Given the description of an element on the screen output the (x, y) to click on. 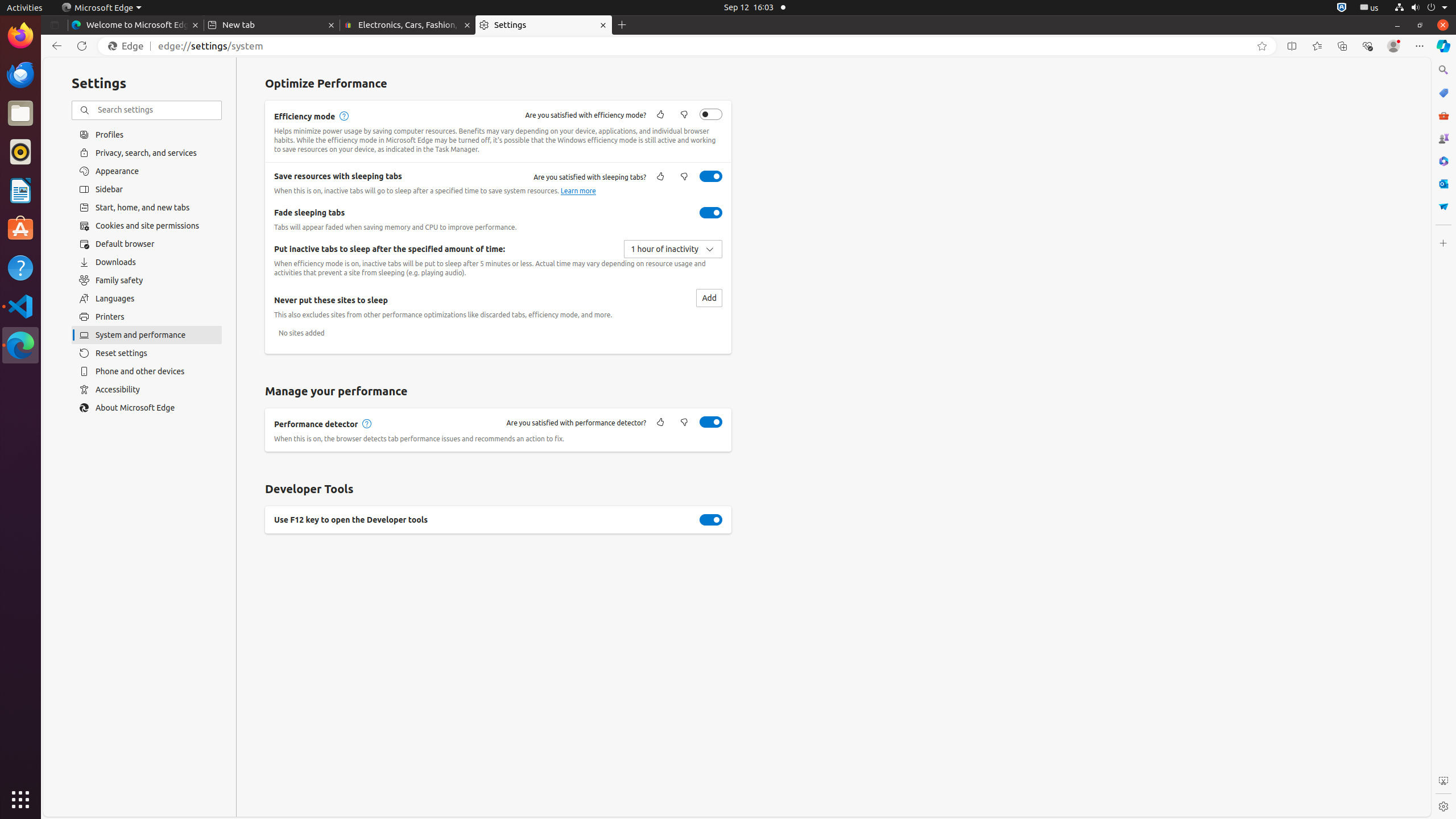
Visual Studio Code Element type: push-button (20, 306)
Learn more Element type: link (578, 191)
Accessibility Element type: tree-item (146, 389)
System Element type: menu (1420, 7)
System and performance Element type: tree-item (146, 334)
